Given the description of an element on the screen output the (x, y) to click on. 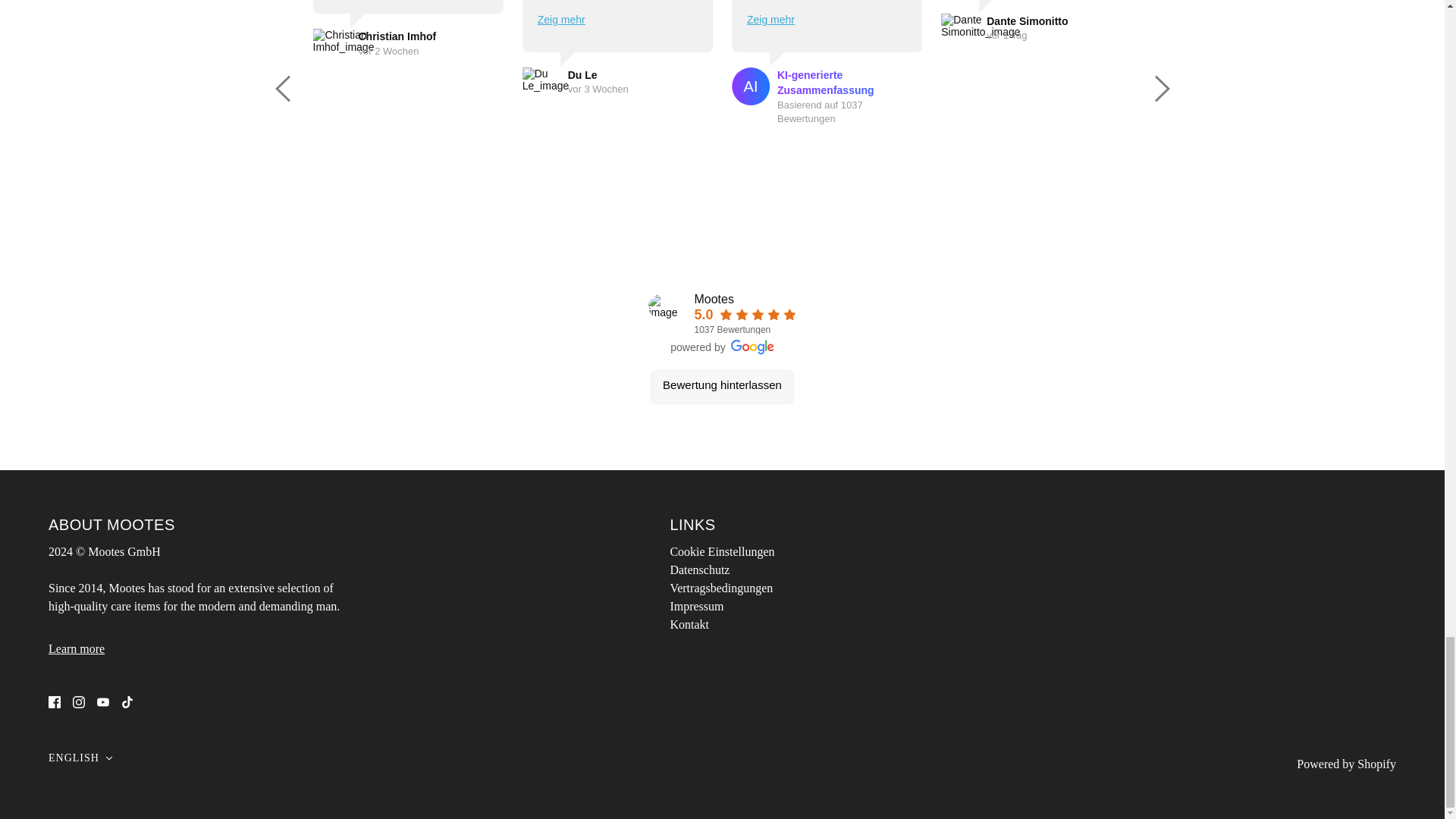
Contact (76, 648)
powered by Google (752, 346)
